Given the description of an element on the screen output the (x, y) to click on. 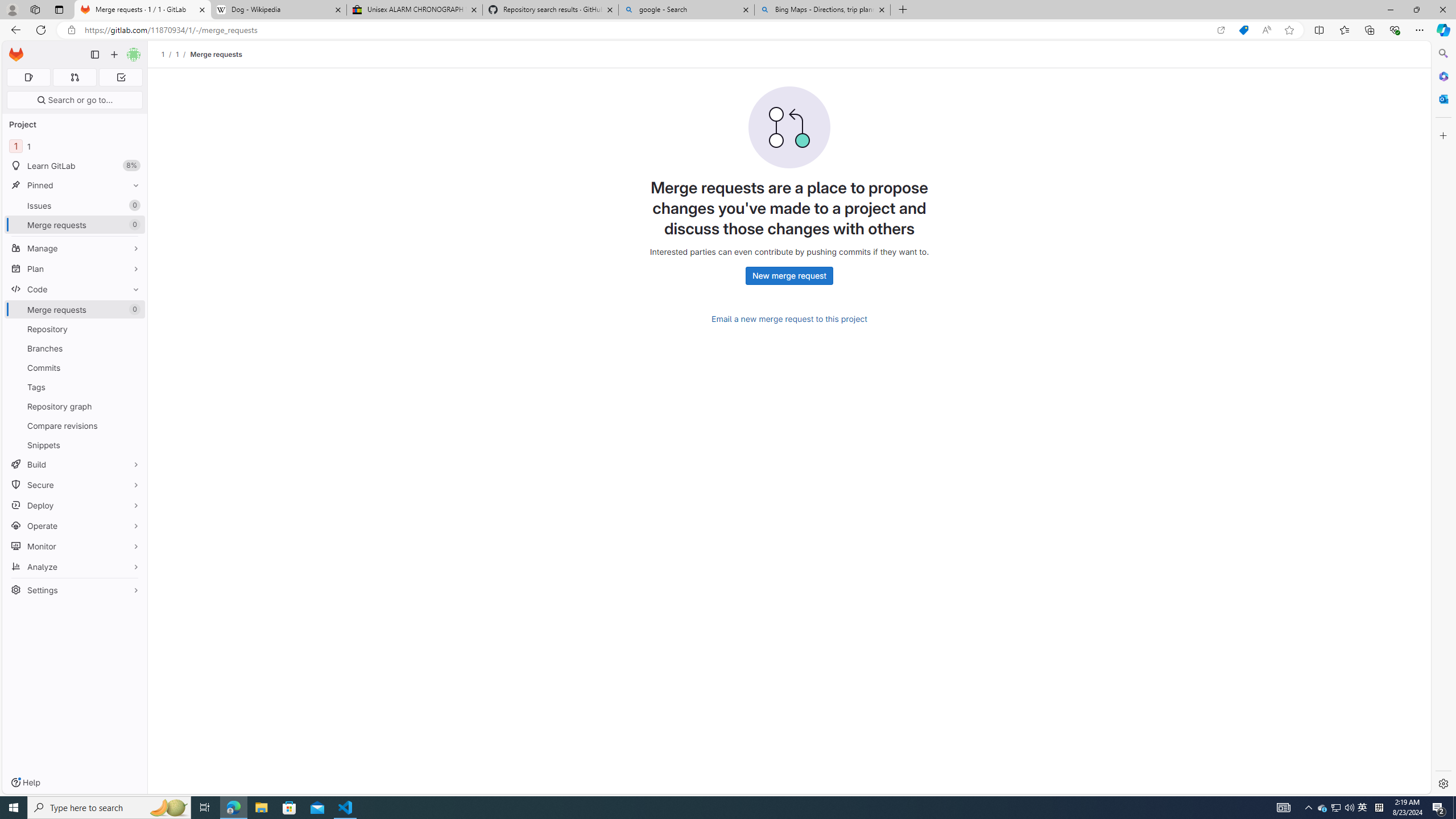
Build (74, 464)
Open in app (1220, 29)
Compare revisions (74, 425)
Side bar (1443, 418)
Pin Tags (132, 386)
Learn GitLab 8% (74, 165)
Monitor (74, 546)
Issues 0 (74, 205)
Pin Commits (132, 367)
